Given the description of an element on the screen output the (x, y) to click on. 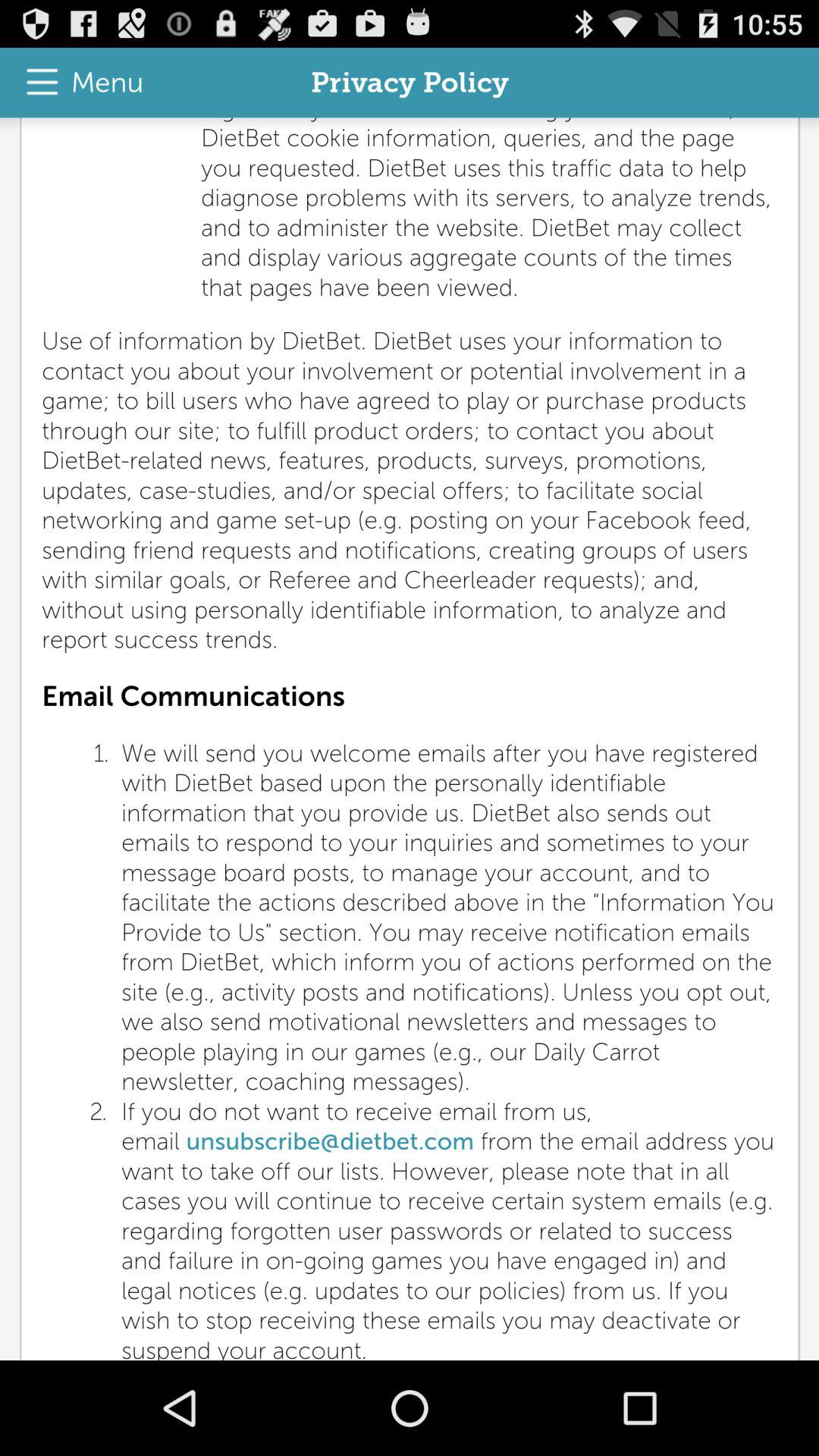
press menu app (76, 82)
